Given the description of an element on the screen output the (x, y) to click on. 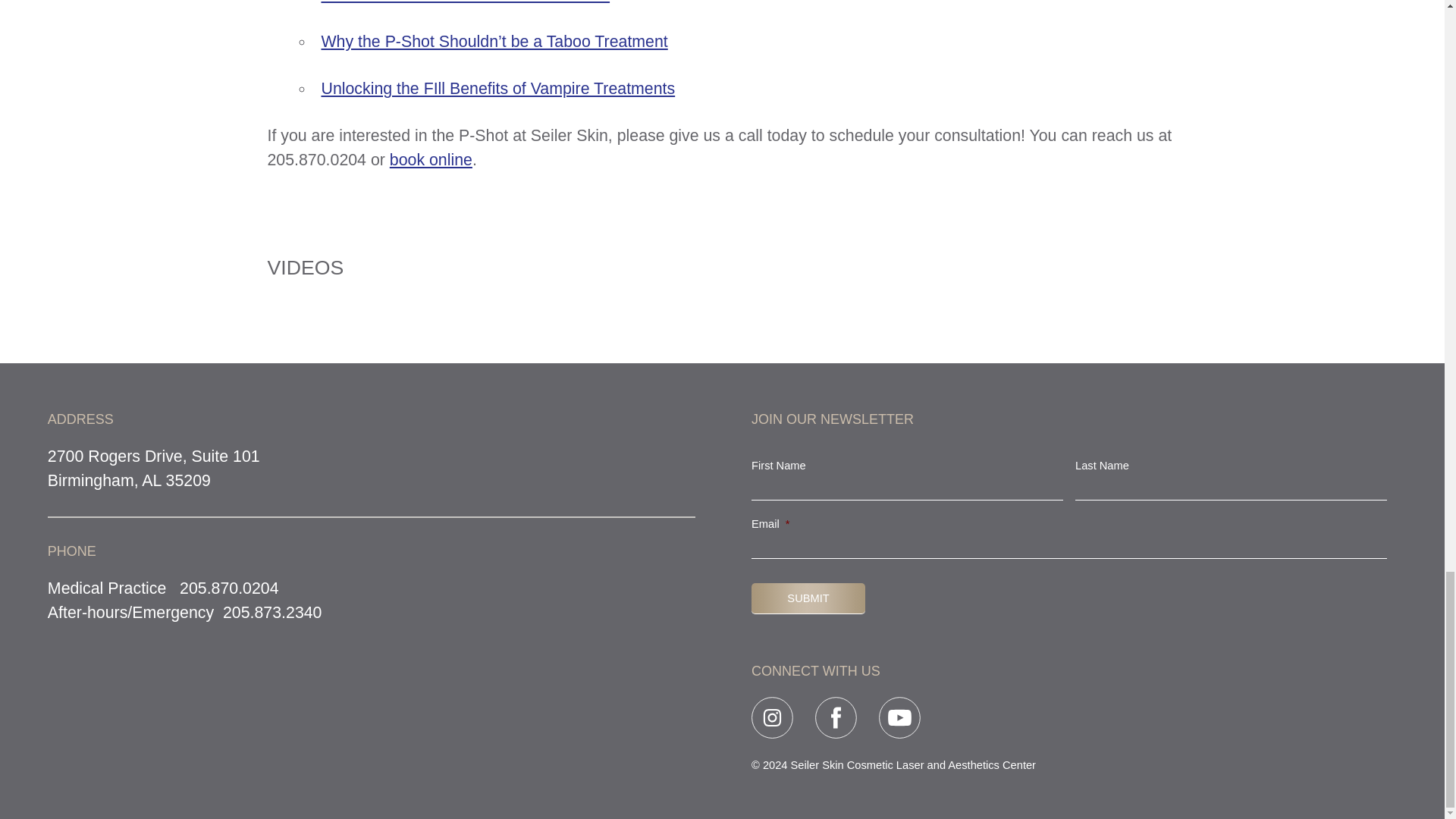
Submit (807, 598)
